Given the description of an element on the screen output the (x, y) to click on. 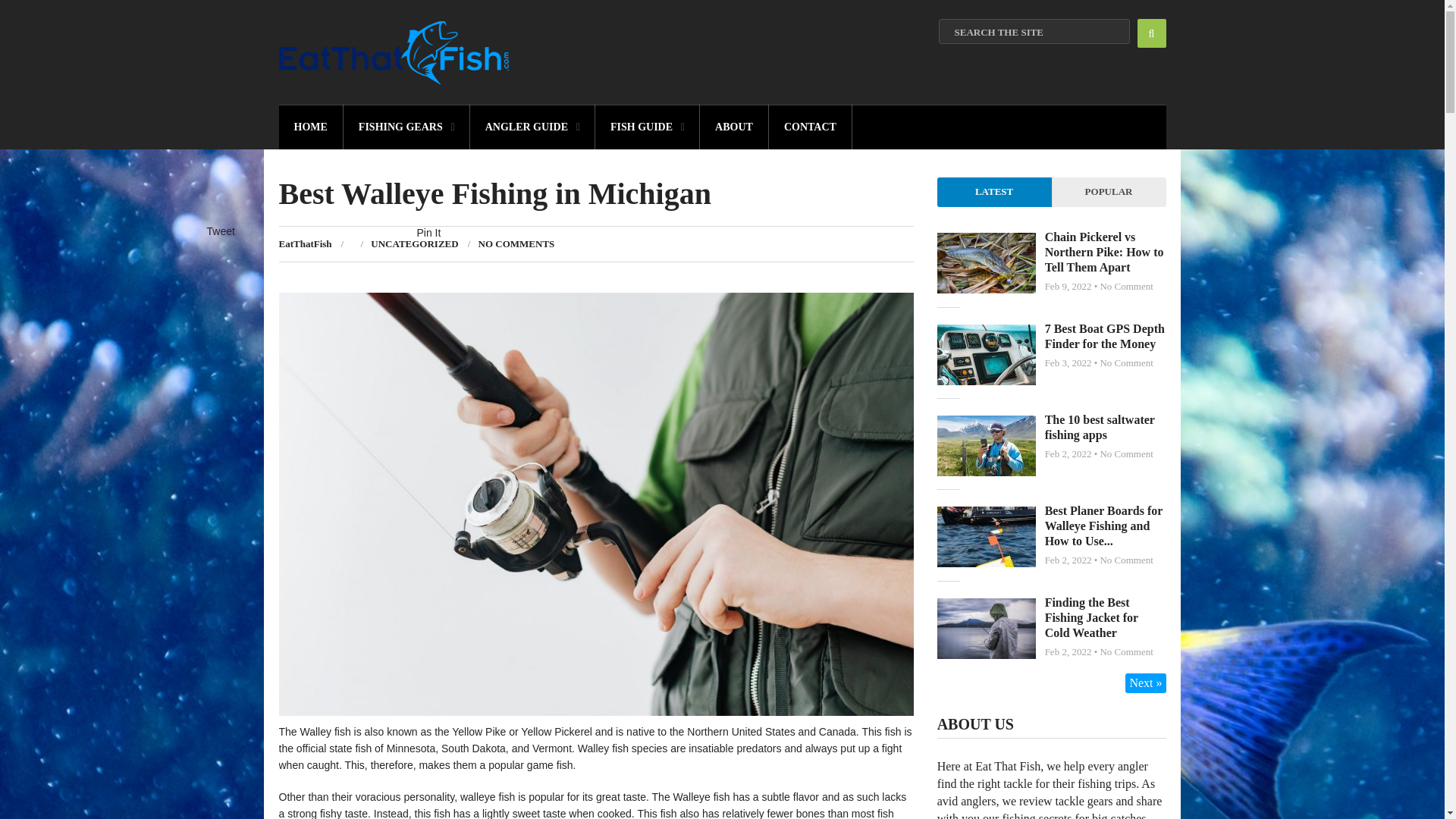
EatThatFish (305, 243)
UNCATEGORIZED (414, 243)
CONTACT (809, 126)
Posts by EatThatFish (305, 243)
ABOUT (734, 126)
FISHING GEARS (406, 126)
HOME (311, 126)
ANGLER GUIDE (532, 126)
NO COMMENTS (516, 243)
7 Best Boat GPS Depth Finder for the Money (1104, 336)
View all posts in Uncategorized (414, 243)
FISH GUIDE (647, 126)
Chain Pickerel vs Northern Pike: How to Tell Them Apart (1104, 251)
The 10 best saltwater fishing apps (1099, 427)
